Given the description of an element on the screen output the (x, y) to click on. 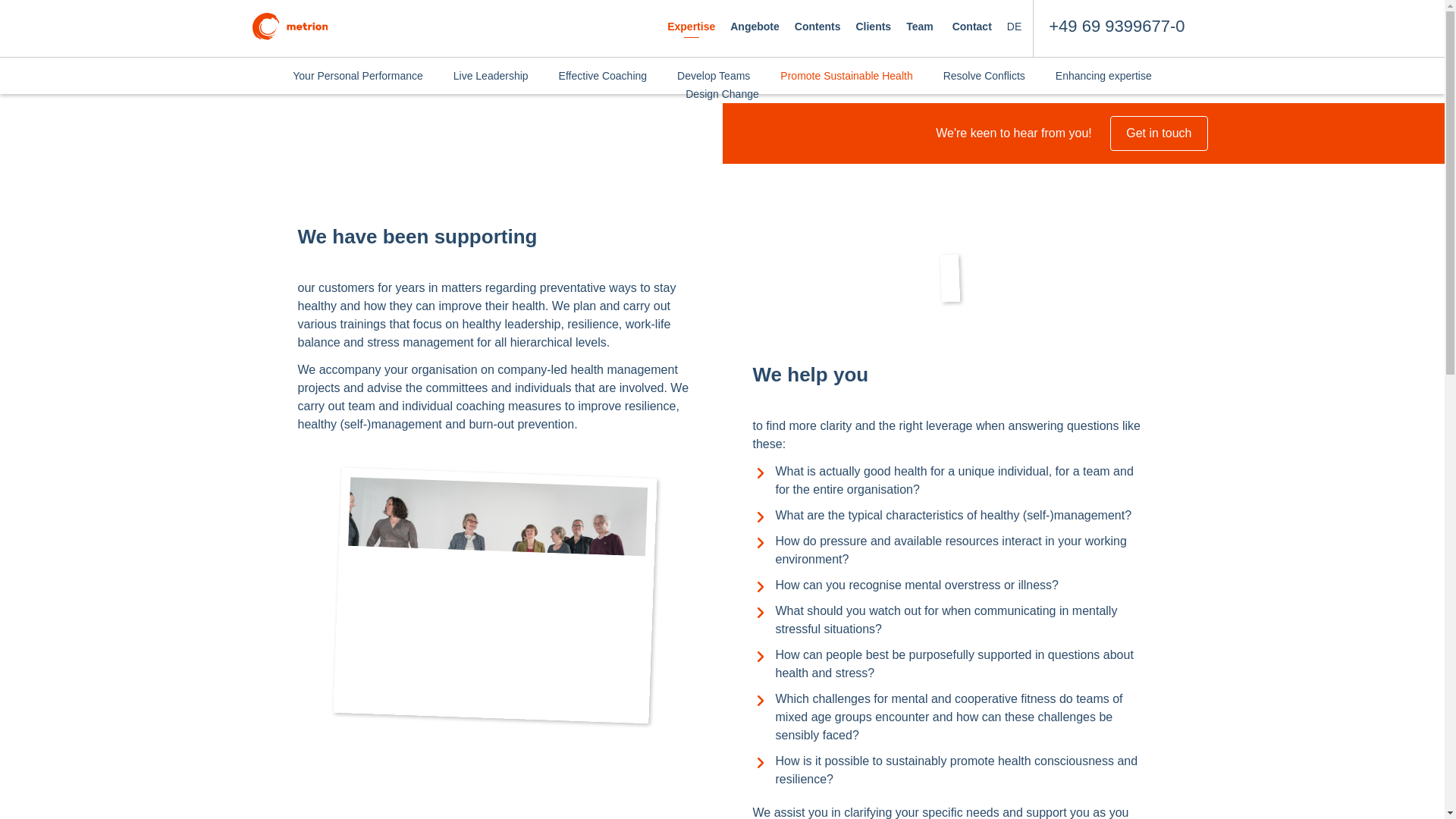
Expertise (691, 28)
Angebote (754, 28)
Contents (817, 28)
